Given the description of an element on the screen output the (x, y) to click on. 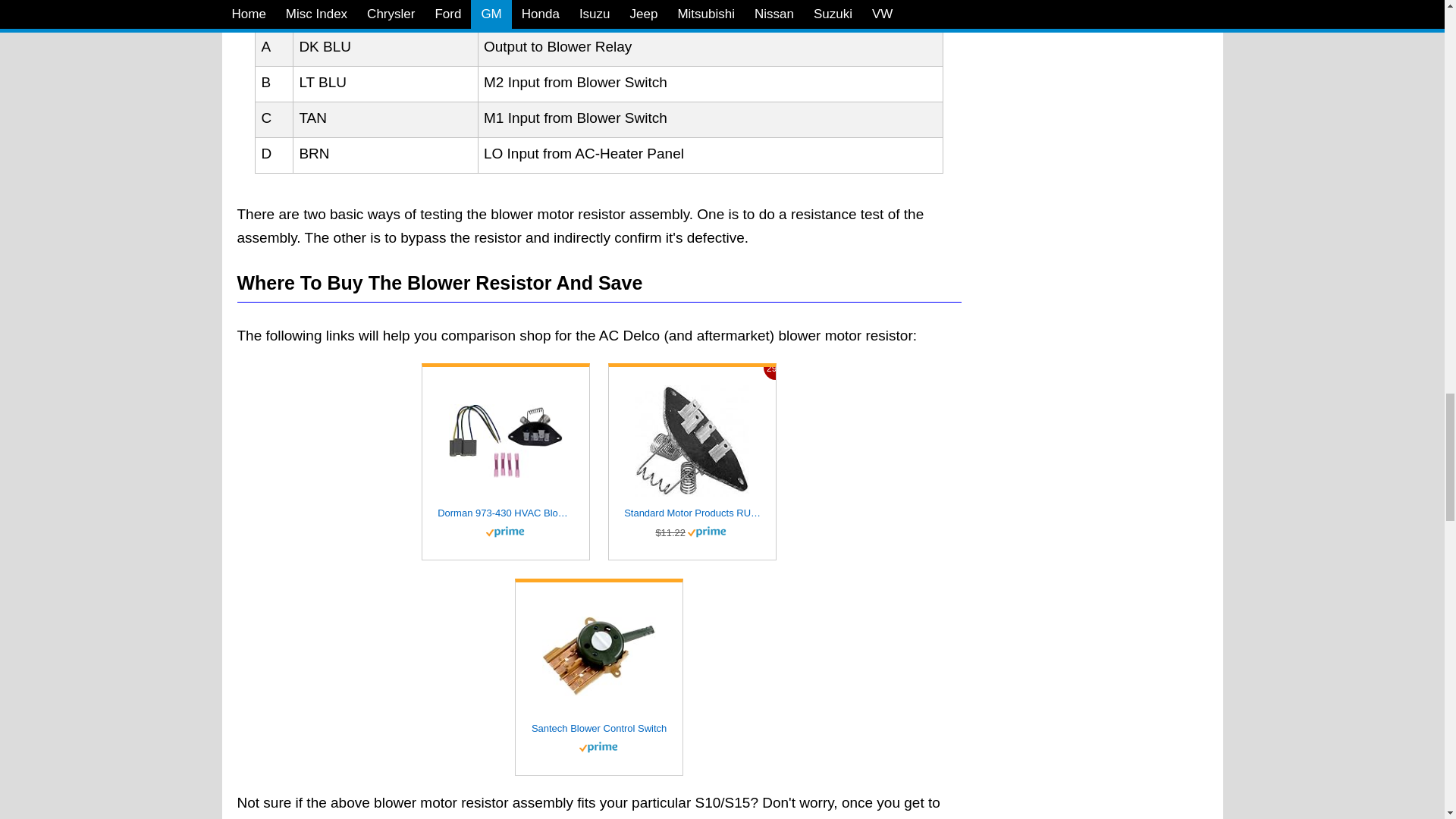
Santech Blower Control Switch (598, 729)
Santech Blower Control Switch (598, 656)
Standard Motor Products RU62 Resistor (691, 440)
Standard Motor Products RU62 Resistor (692, 513)
